Given the description of an element on the screen output the (x, y) to click on. 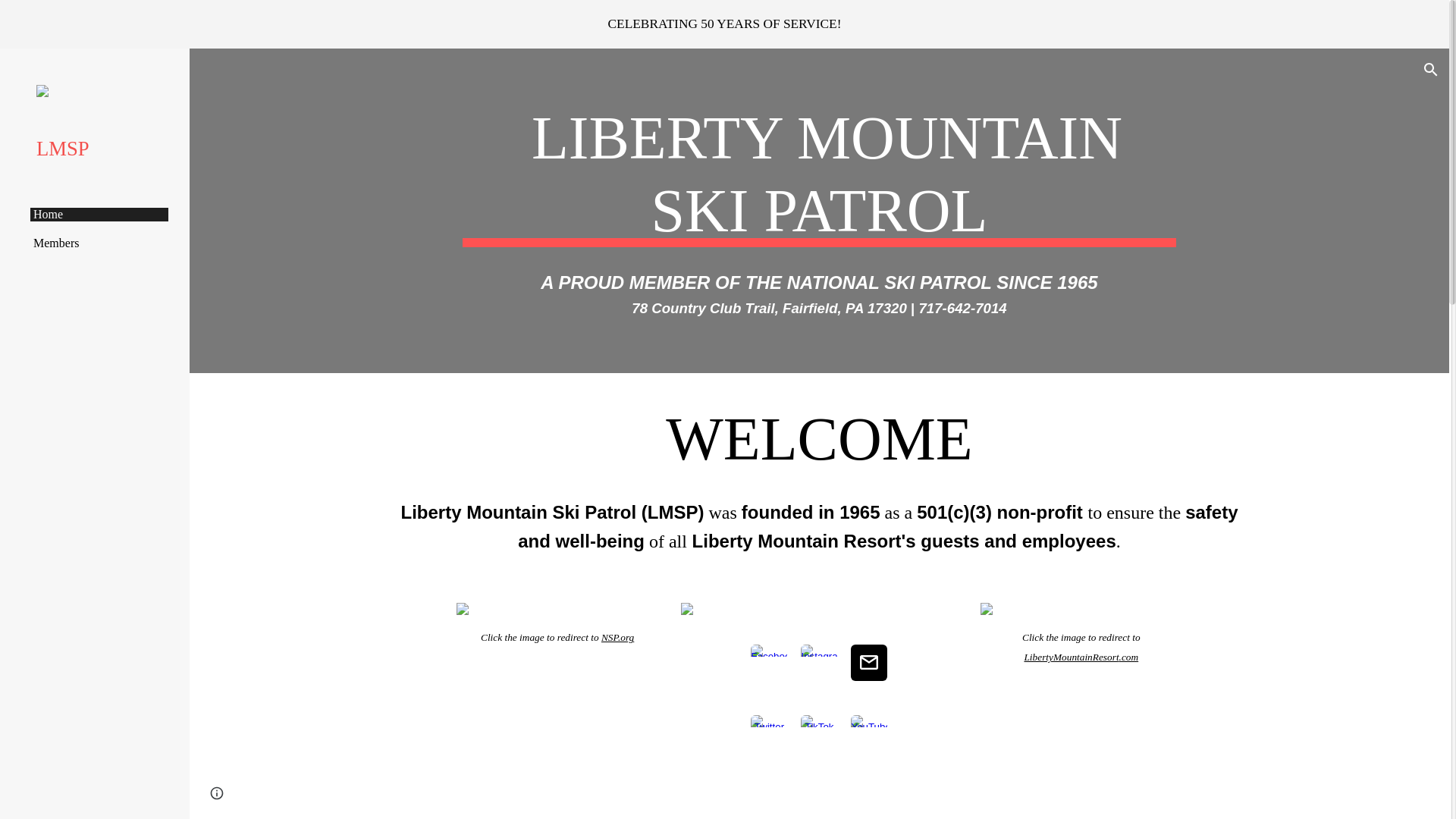
Home (99, 214)
NSP.org (617, 635)
LibertyMountainResort.com (1080, 656)
LMSP (100, 148)
Members (99, 243)
